Given the description of an element on the screen output the (x, y) to click on. 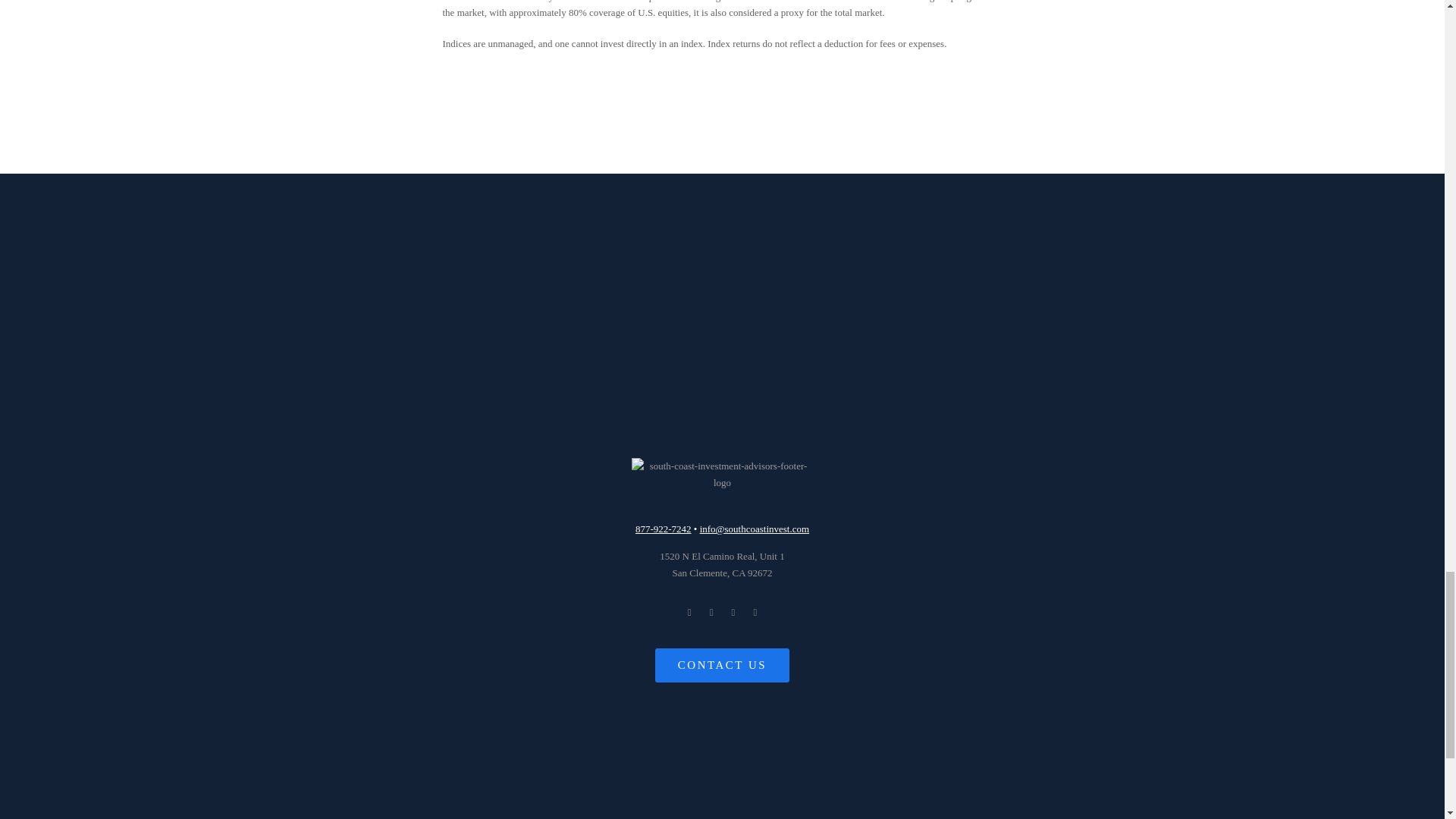
Facebook (688, 612)
877-922-7242 (721, 564)
south-coast-investment-advisors-footer-logo (662, 528)
